Given the description of an element on the screen output the (x, y) to click on. 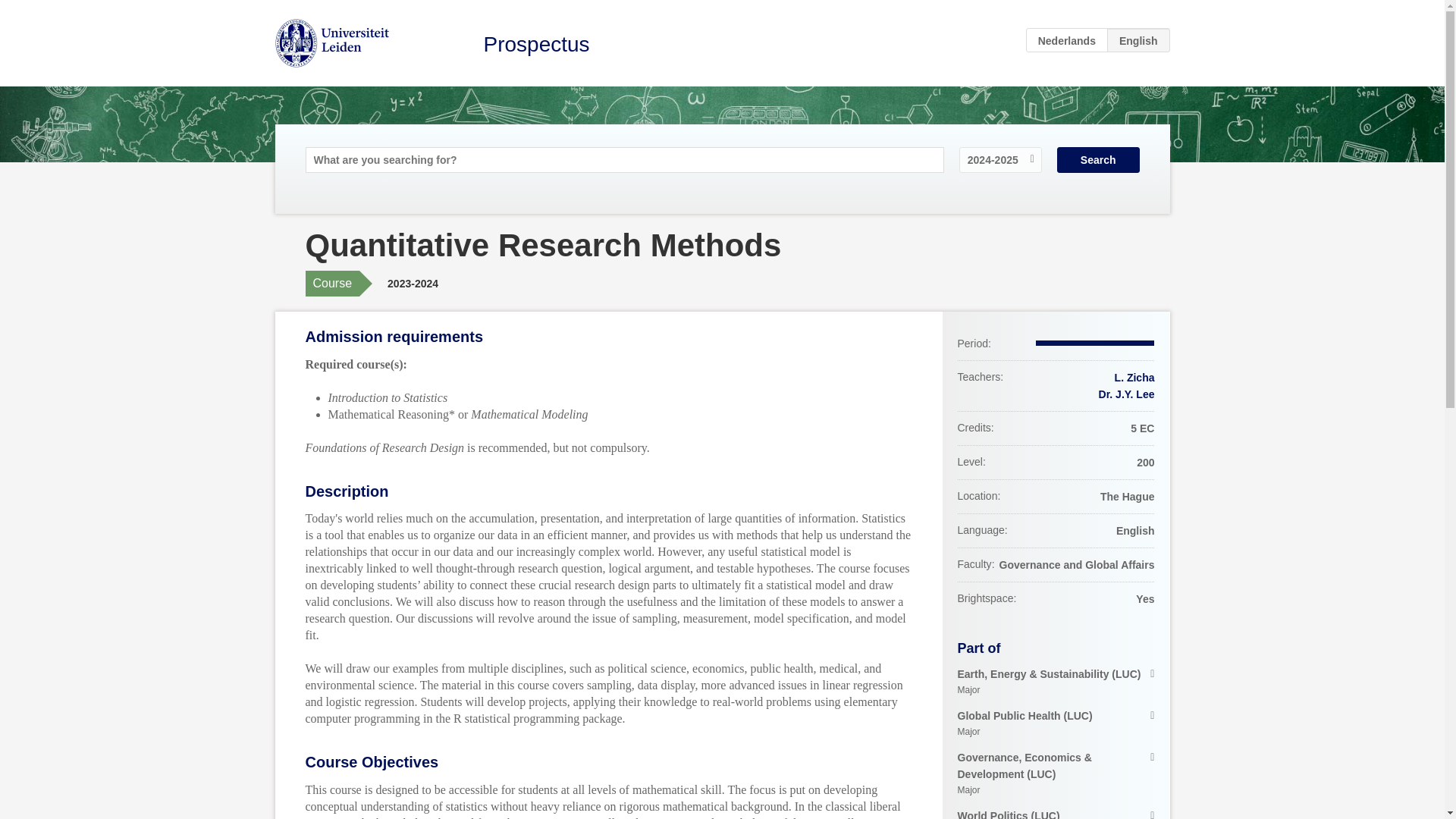
L. Zicha (1134, 377)
Dr. J.Y. Lee (1126, 394)
Prospectus (536, 44)
Search (1098, 159)
NL (1067, 39)
